Given the description of an element on the screen output the (x, y) to click on. 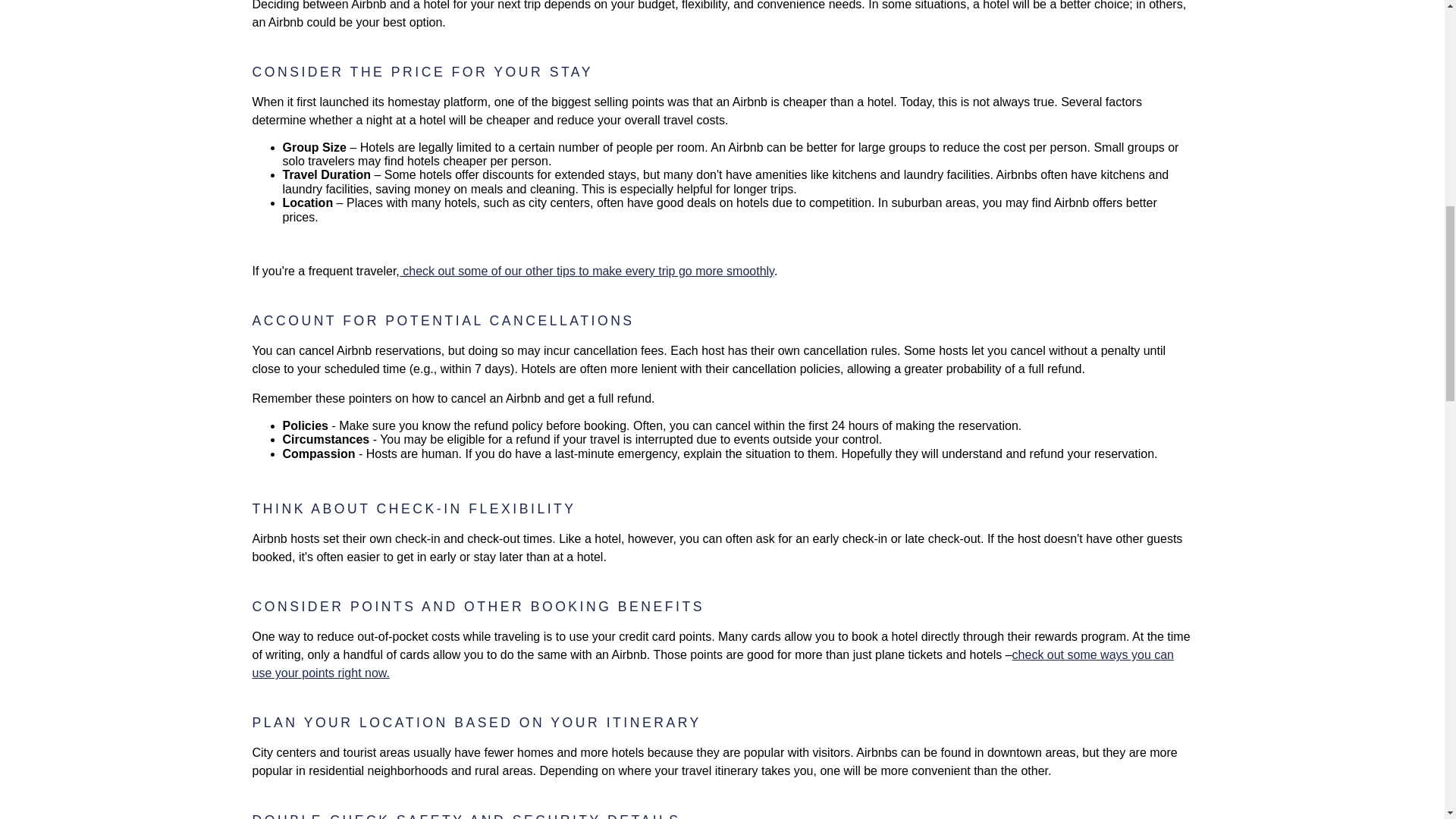
What can you do with your travel points right now (712, 663)
business travel tips for frequent flyers (586, 270)
